Given the description of an element on the screen output the (x, y) to click on. 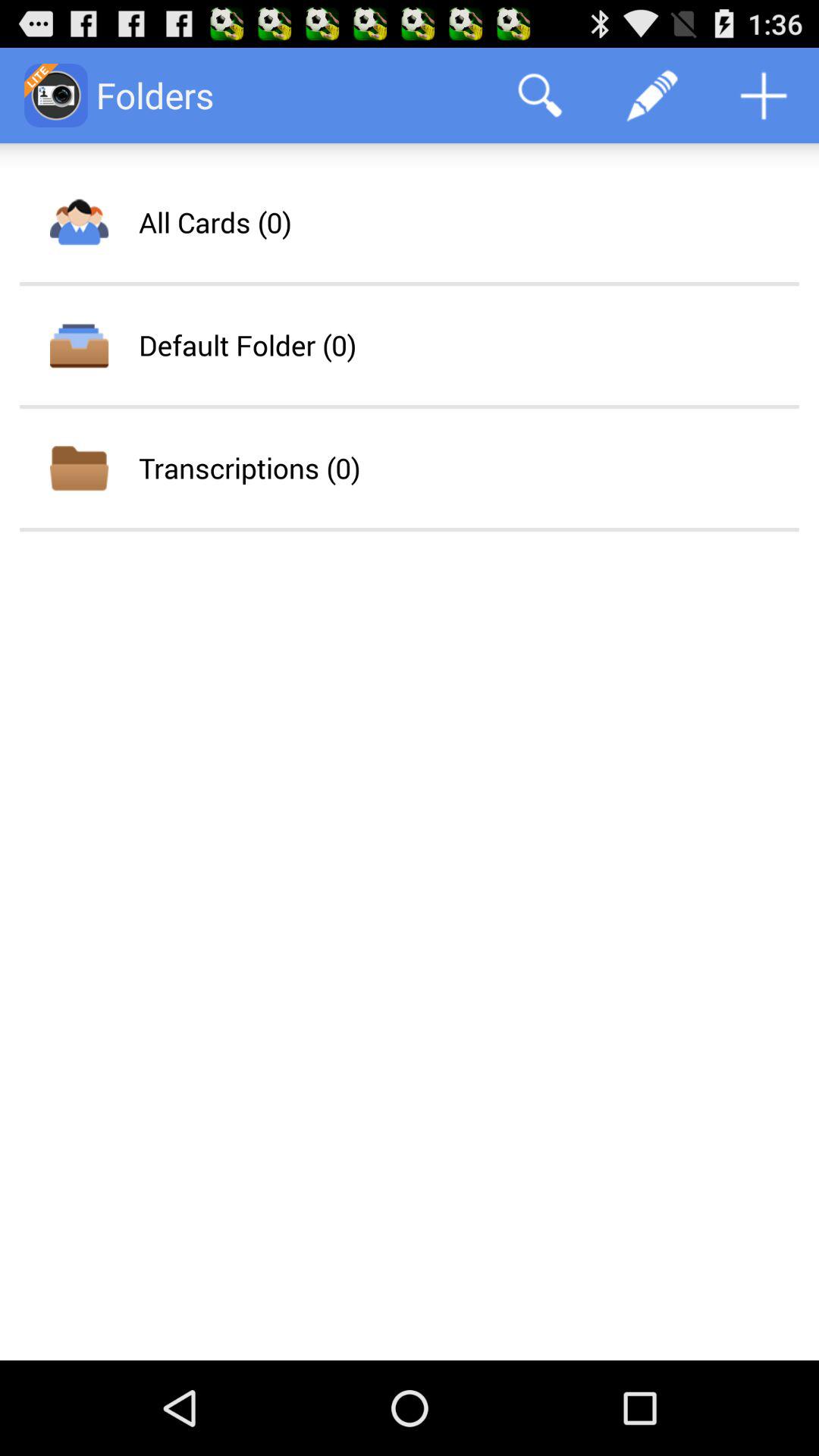
select transcriptions (0) (249, 467)
